Given the description of an element on the screen output the (x, y) to click on. 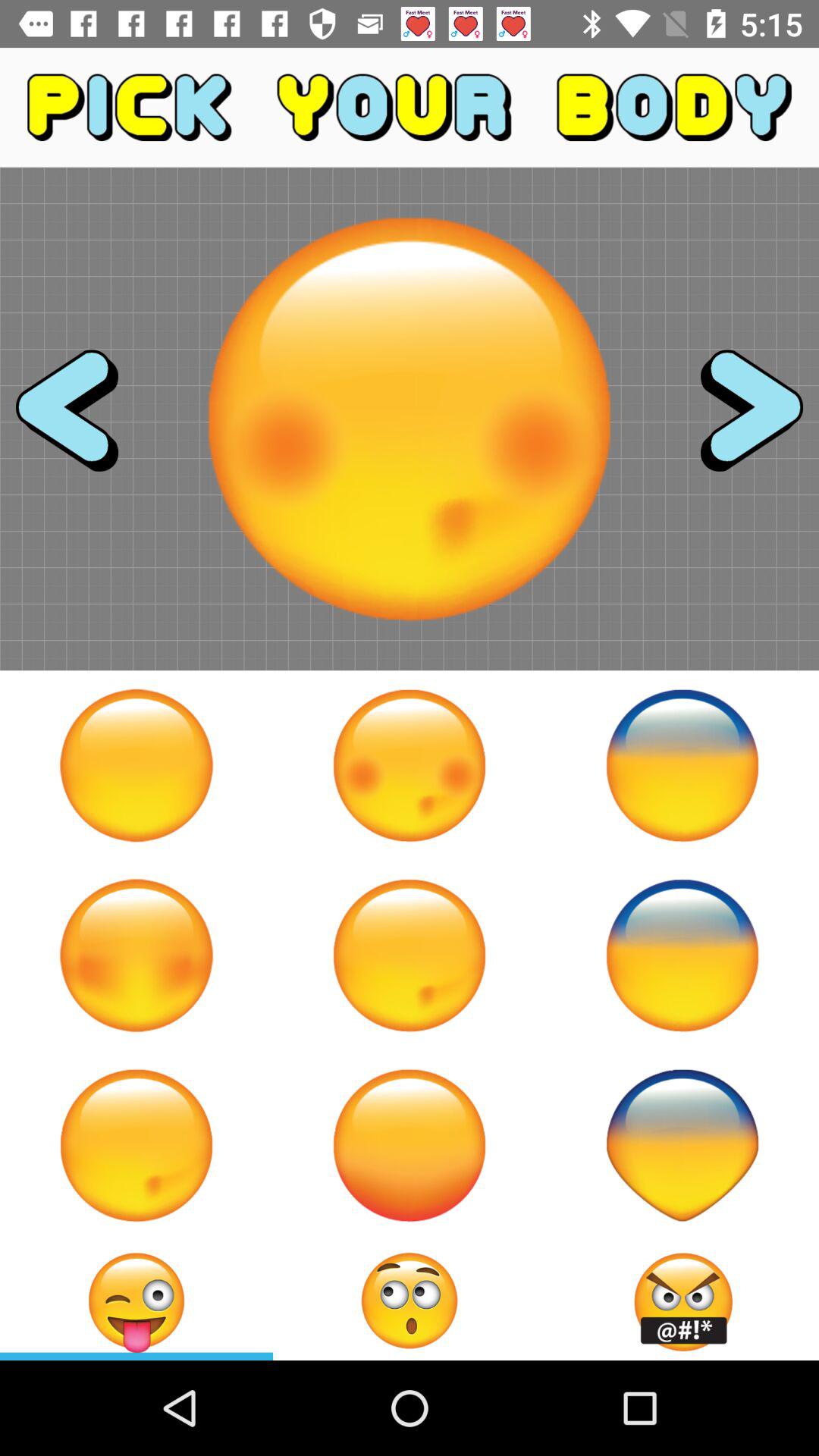
element as if you were the app developer (682, 765)
